Given the description of an element on the screen output the (x, y) to click on. 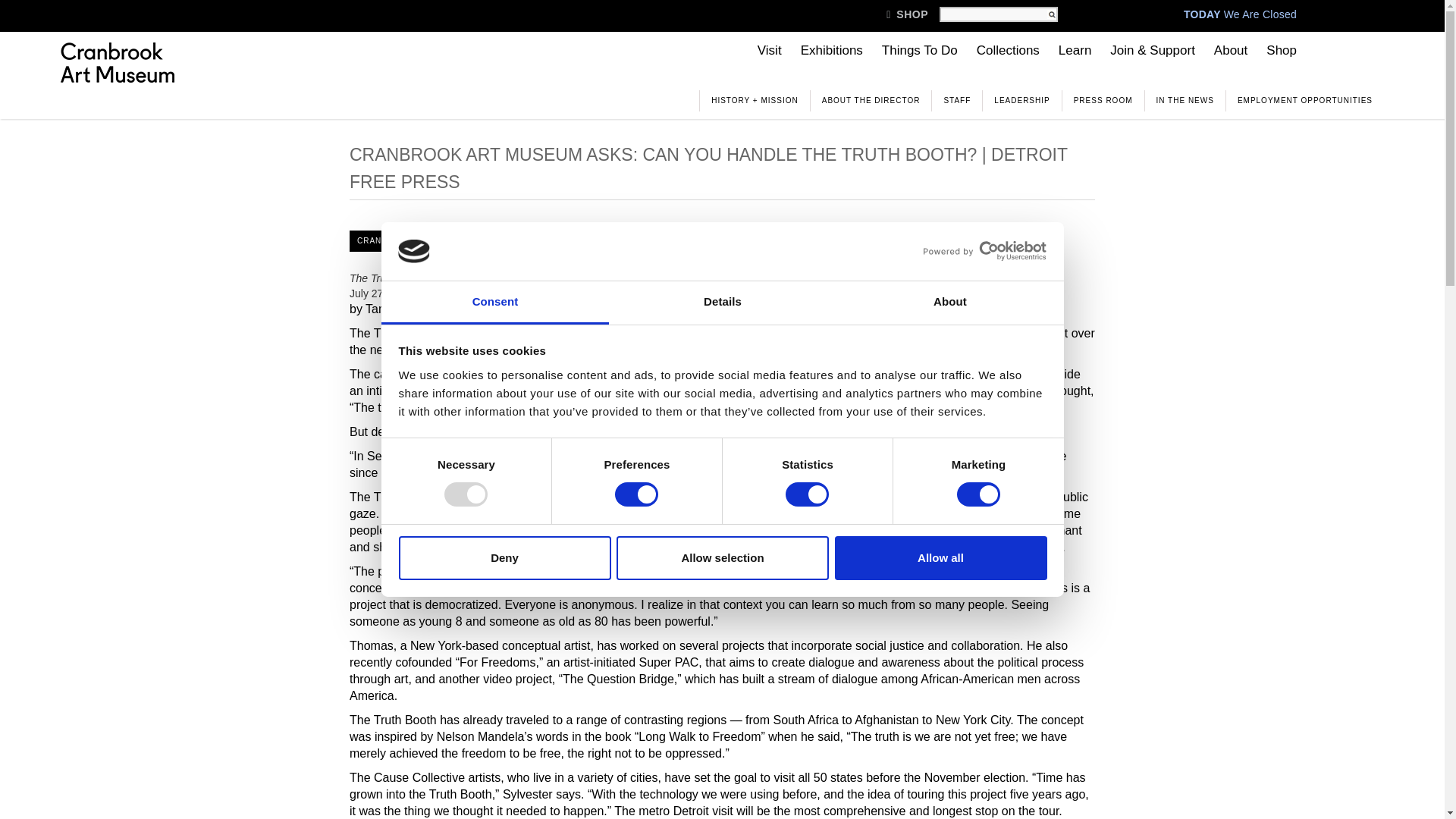
About (948, 302)
Details (721, 302)
Consent (494, 302)
